Given the description of an element on the screen output the (x, y) to click on. 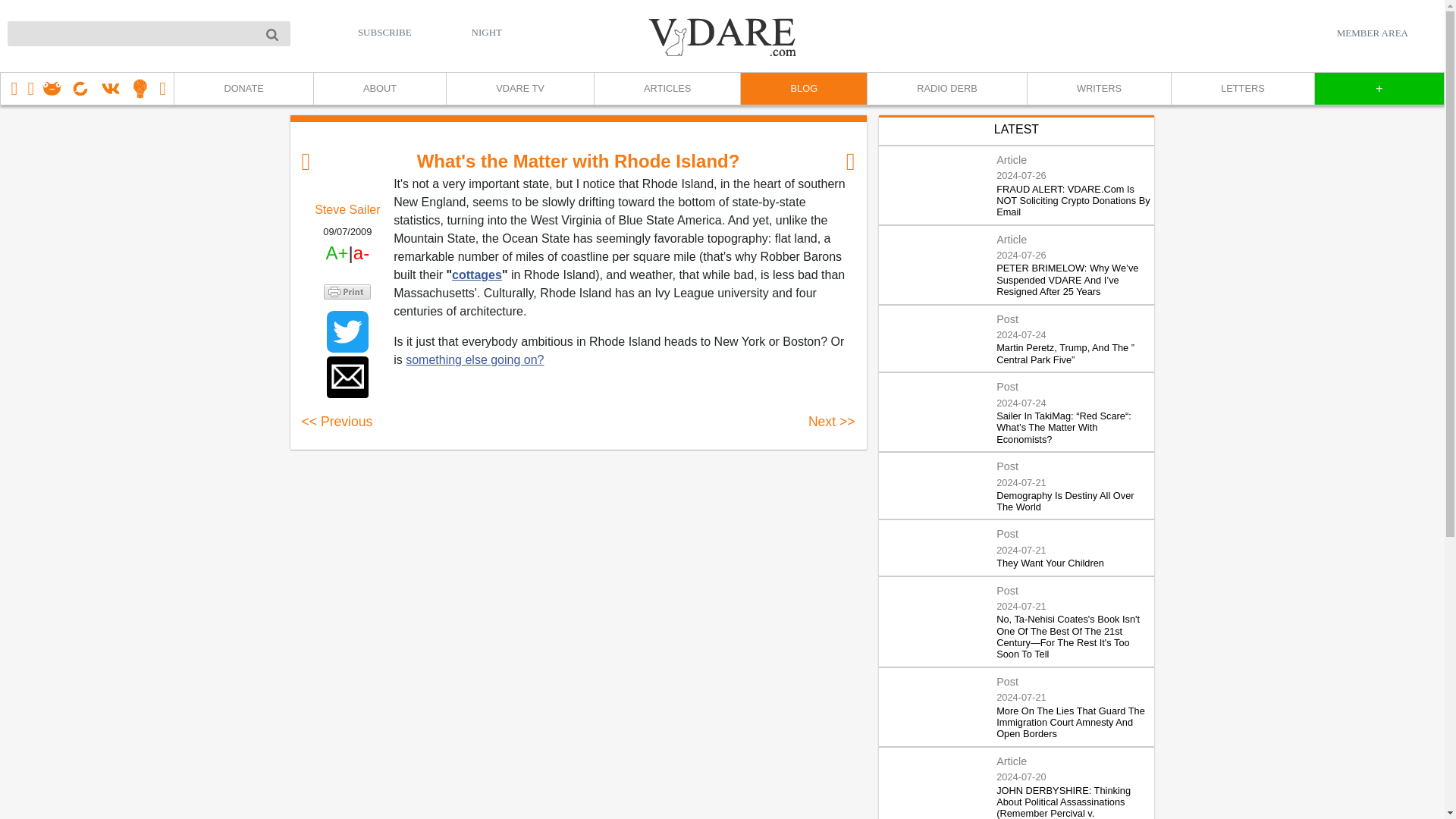
WRITERS (1098, 88)
VDARE TV (519, 88)
ARTICLES (666, 88)
RADIO DERB (946, 88)
LETTERS (1242, 88)
BLOG (802, 88)
DONATE (243, 88)
Share to Twitter (347, 331)
MEMBER AREA (1371, 32)
SUBSCRIBE (385, 31)
